Given the description of an element on the screen output the (x, y) to click on. 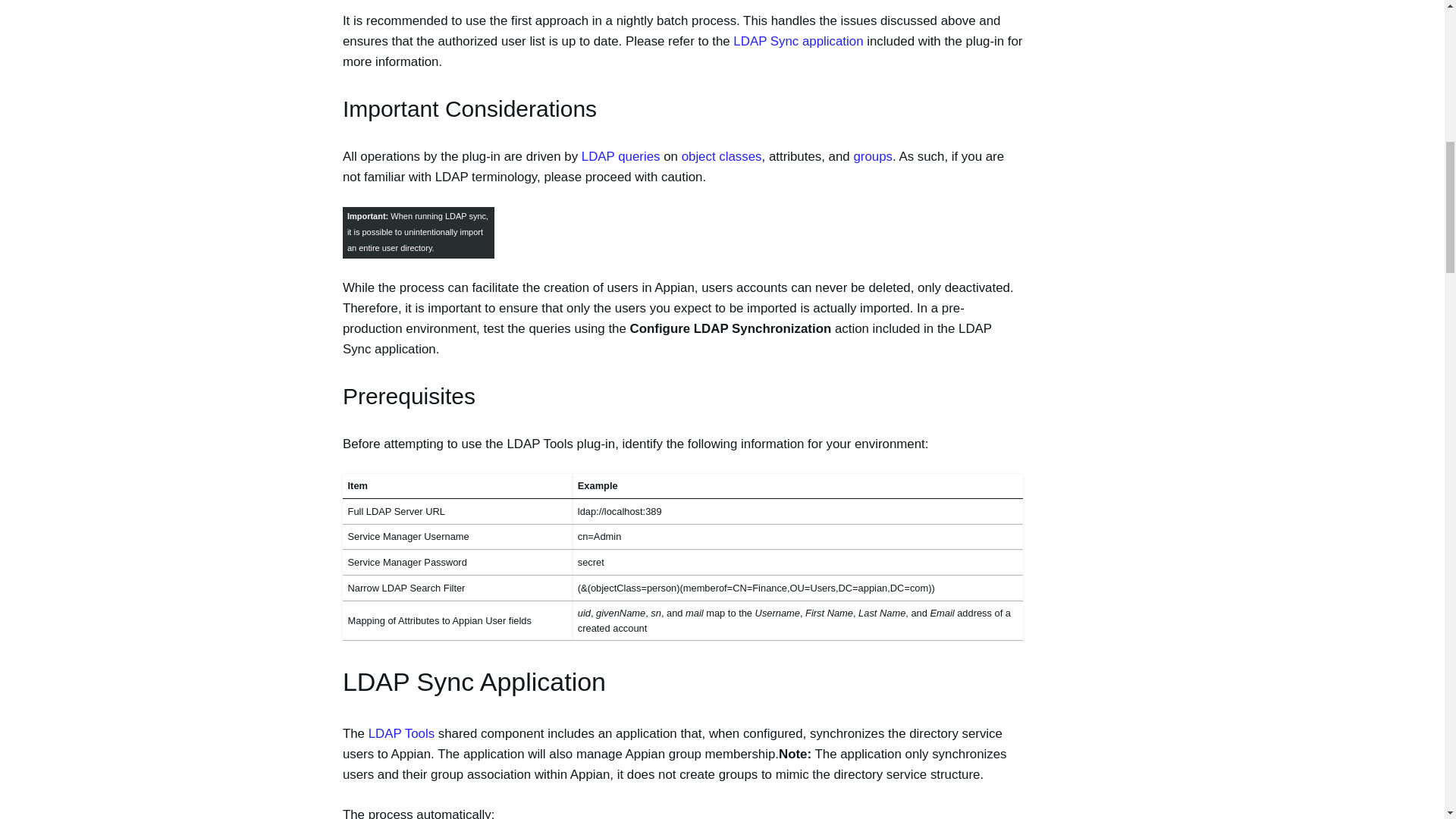
groups (872, 156)
LDAP Sync application (798, 41)
LDAP queries (620, 156)
LDAP Tools (400, 733)
object classes (721, 156)
